Given the description of an element on the screen output the (x, y) to click on. 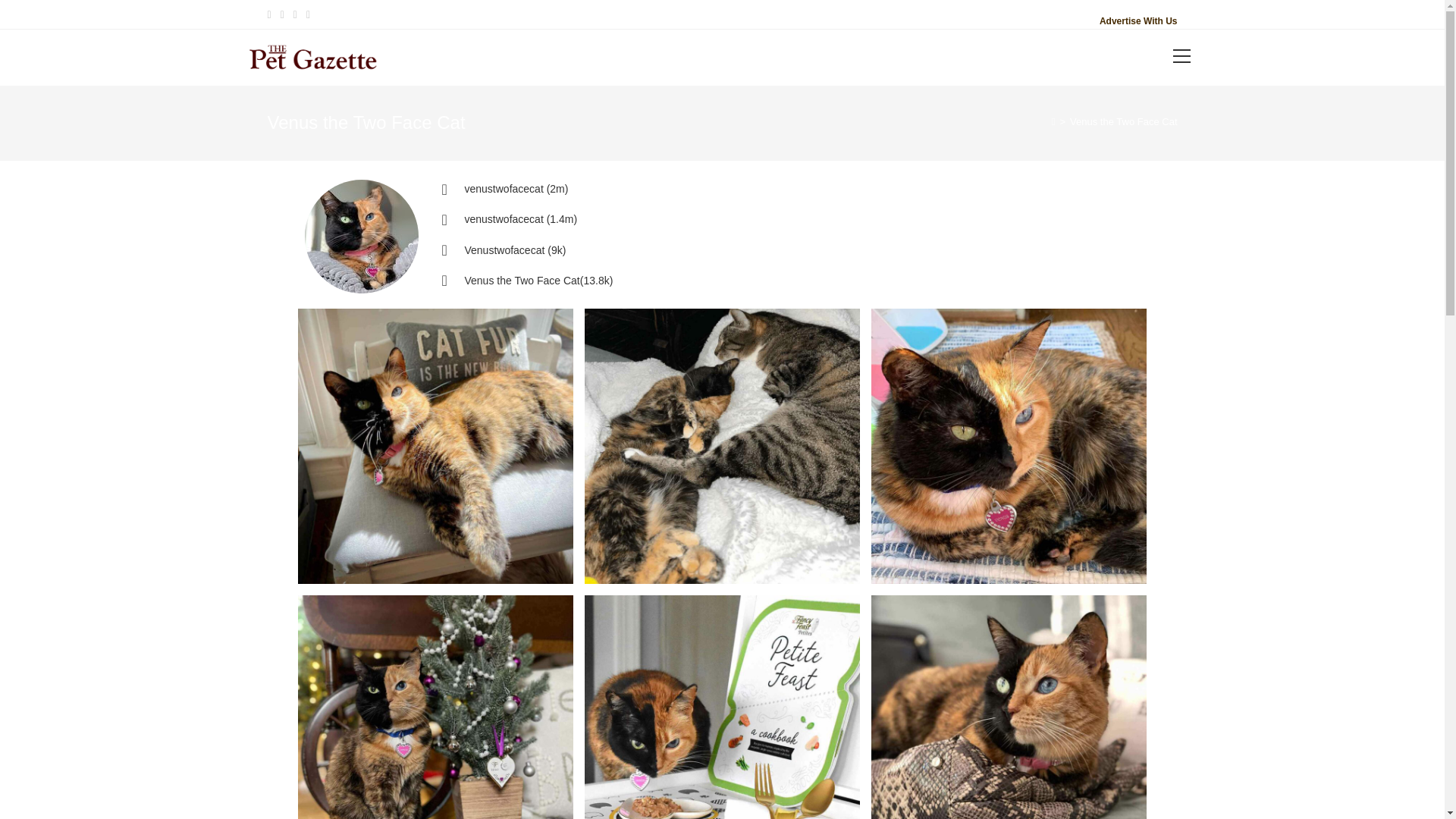
Venus the Two Face Cat03 (434, 707)
Venus the Two Face Cat06 (434, 445)
Advertise With Us (1138, 20)
